Given the description of an element on the screen output the (x, y) to click on. 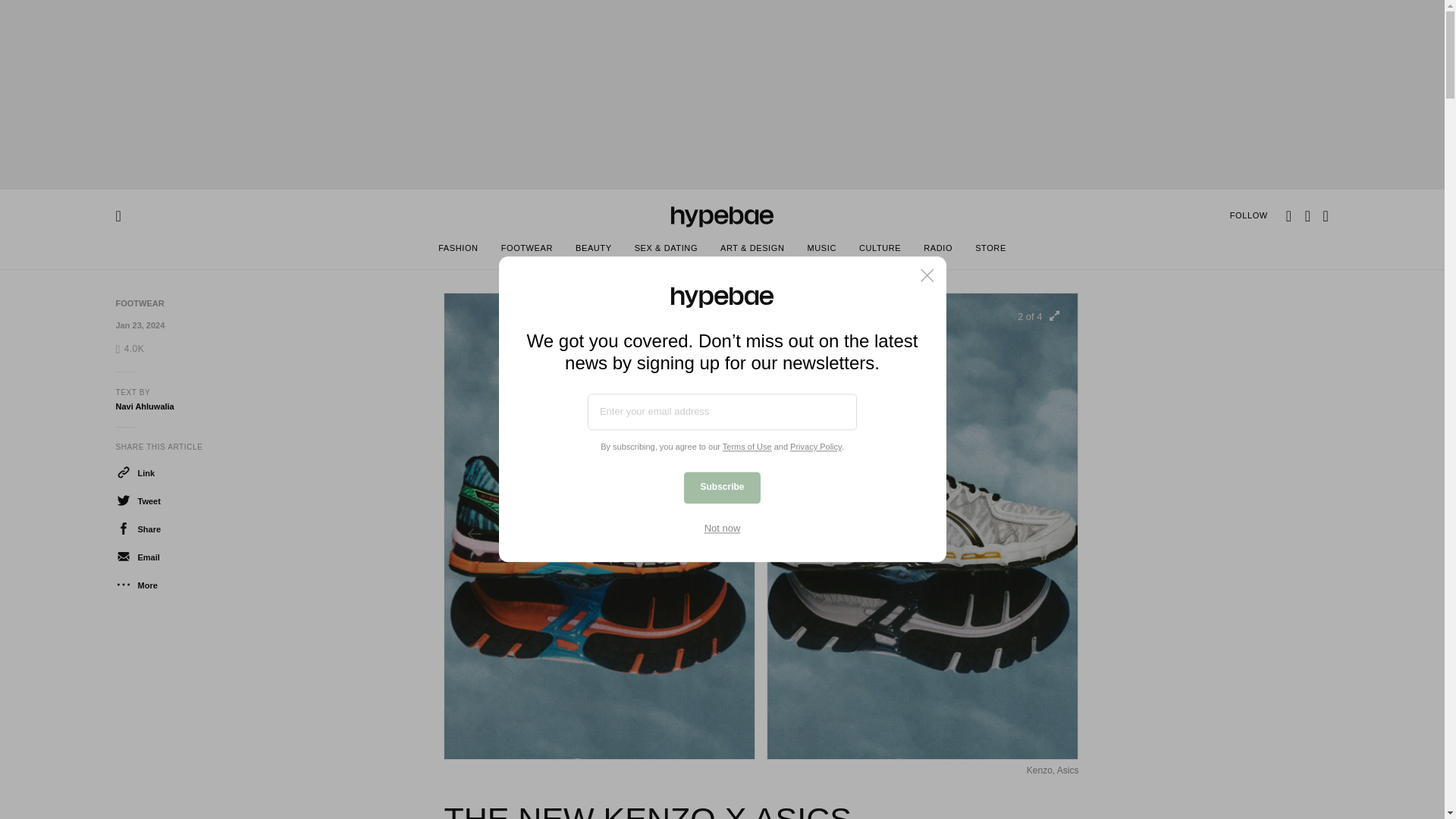
STORE (990, 250)
Footwear (139, 302)
FOOTWEAR (139, 302)
FOLLOW (1248, 215)
MUSIC (820, 250)
BEAUTY (593, 250)
CULTURE (879, 250)
FASHION (457, 250)
FOOTWEAR (526, 250)
Navi Ahluwalia (144, 406)
RADIO (937, 250)
